Given the description of an element on the screen output the (x, y) to click on. 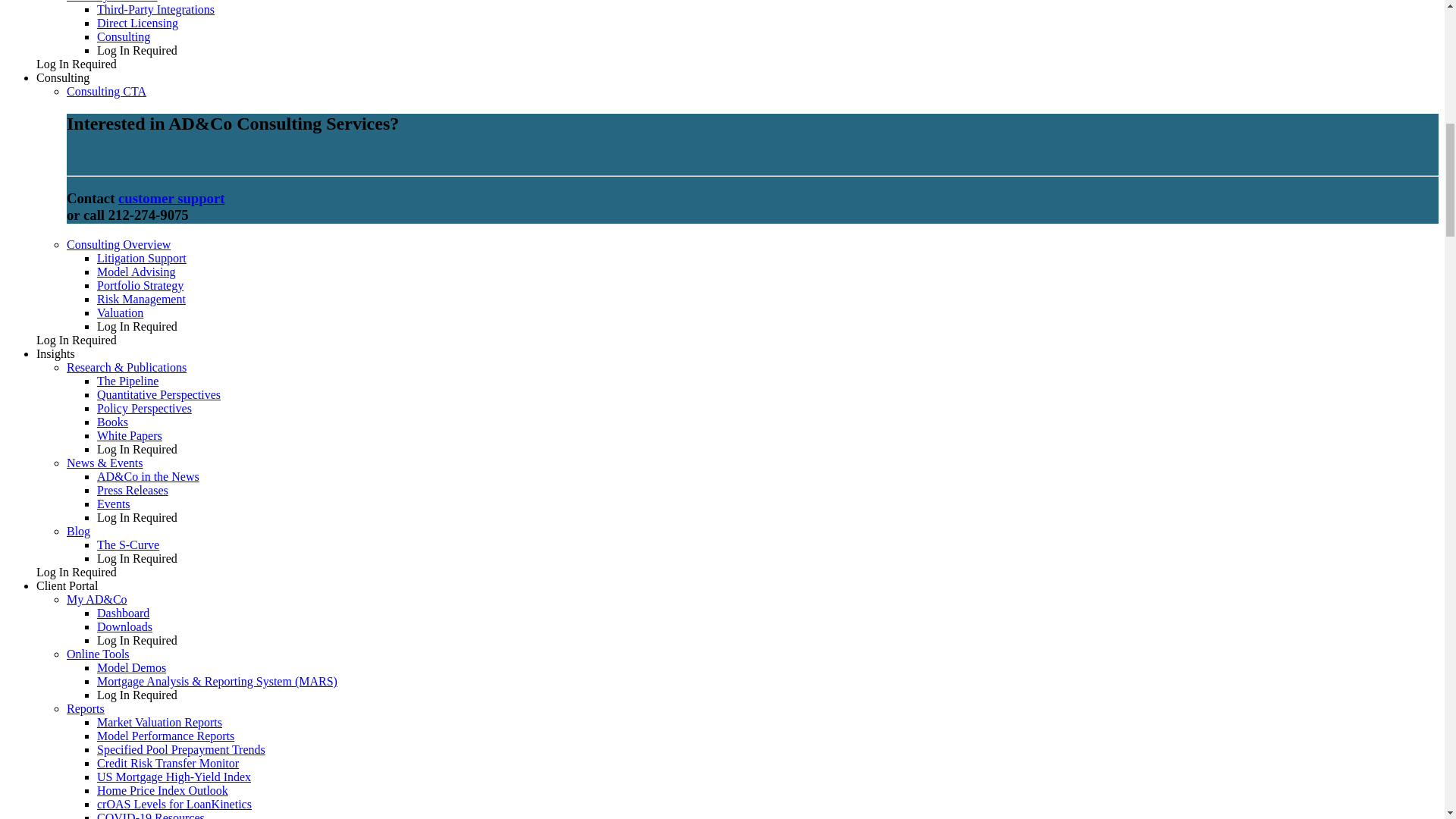
Model Advising (136, 271)
Presentations (114, 503)
Valuation (119, 312)
Consulting CTA (106, 91)
Litigation Support (141, 257)
Direct Licensing (137, 22)
customer support (170, 198)
Delivery Channels (111, 1)
Risk Management (141, 298)
Consulting (123, 36)
Consulting Overview (118, 244)
Portfolio Strategy (140, 285)
Third-Party Integrations (155, 9)
